Given the description of an element on the screen output the (x, y) to click on. 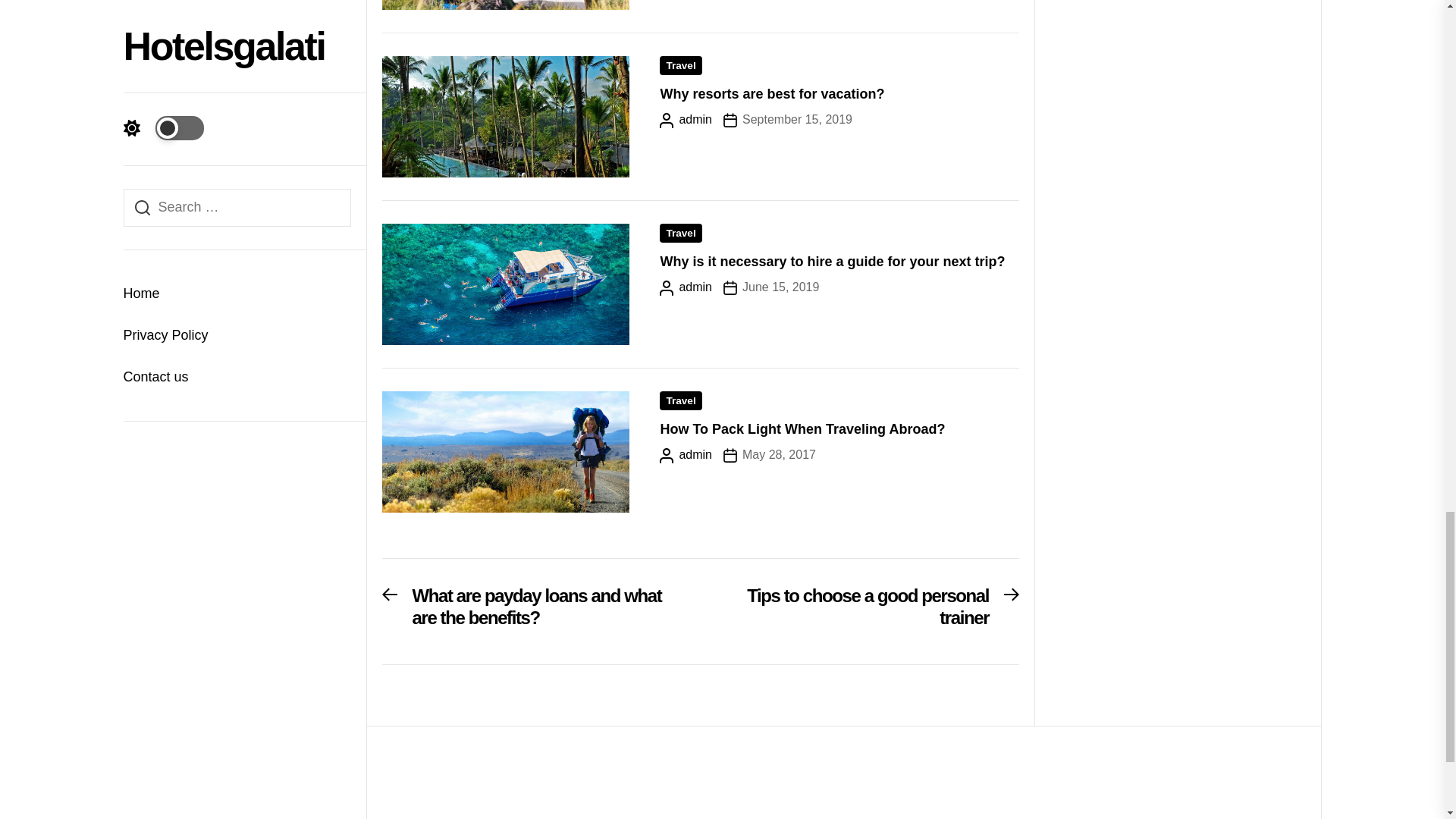
Travel (680, 400)
Travel (680, 65)
admin (685, 119)
Why is it necessary to hire a guide for your next trip? (831, 261)
September 15, 2019 (787, 119)
admin (867, 611)
May 28, 2017 (685, 287)
June 15, 2019 (769, 454)
Why resorts are best for vacation? (770, 287)
